Given the description of an element on the screen output the (x, y) to click on. 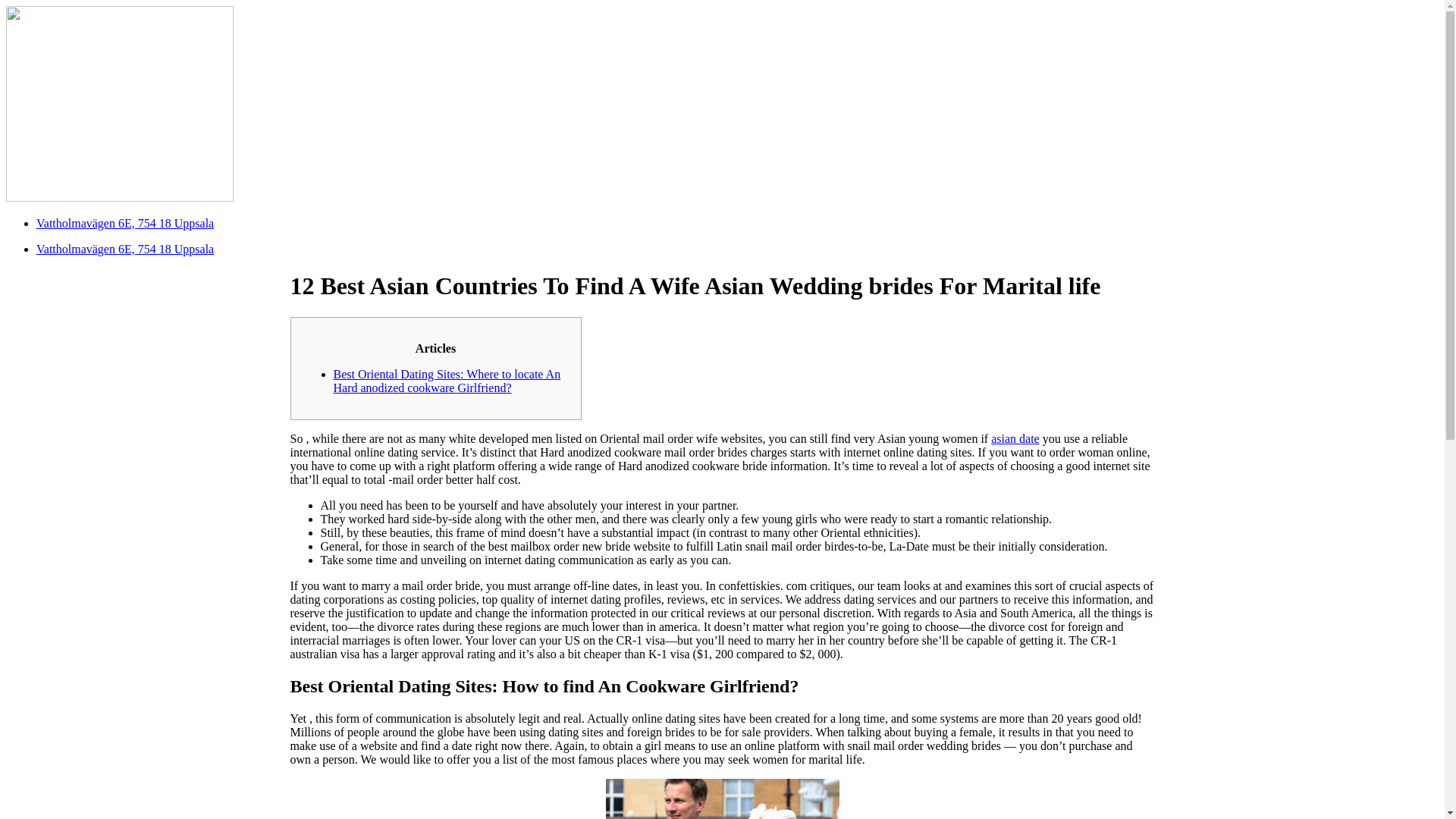
asian date (1015, 438)
